Given the description of an element on the screen output the (x, y) to click on. 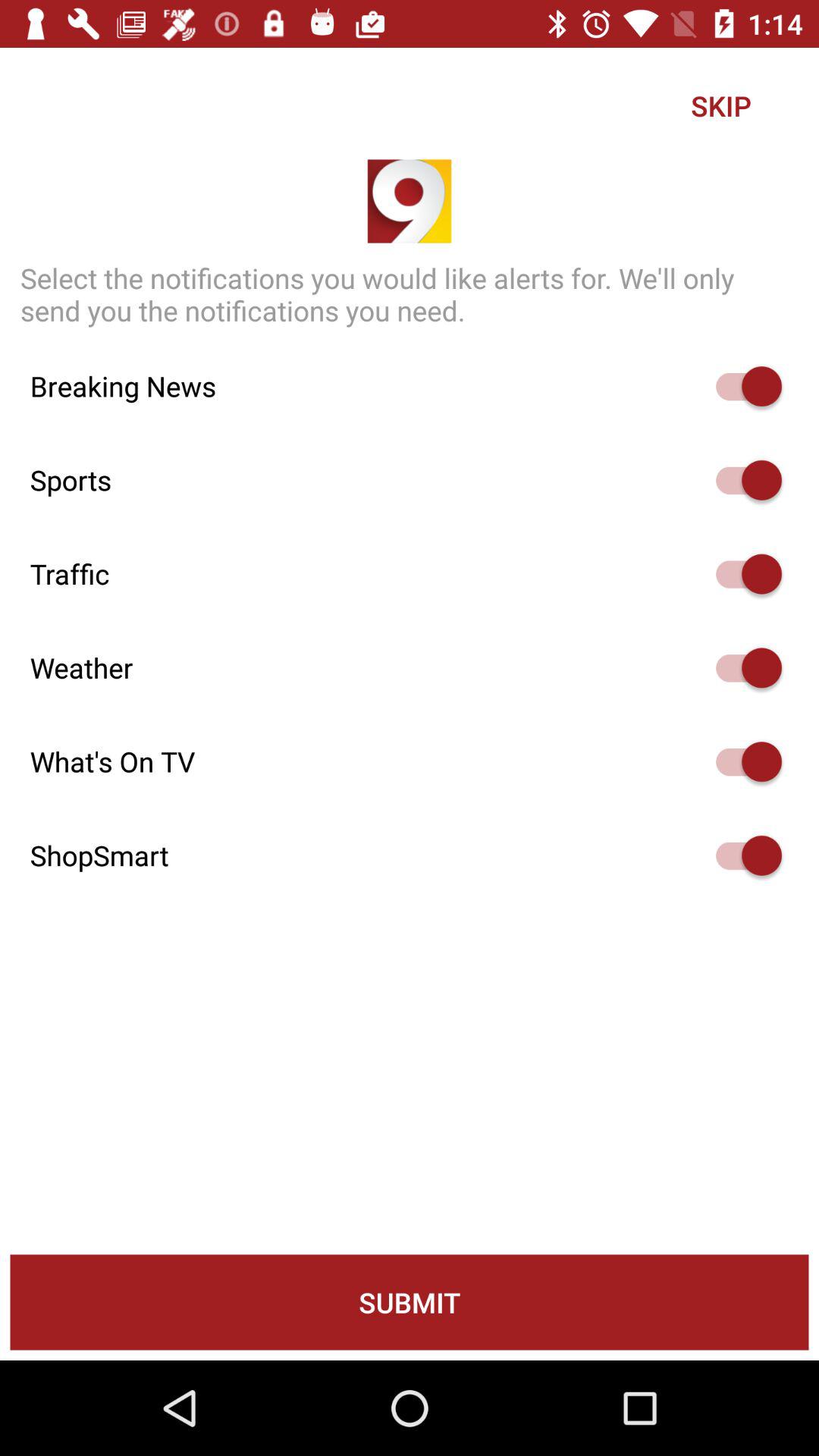
switch to turn on shopsmart (741, 855)
